Given the description of an element on the screen output the (x, y) to click on. 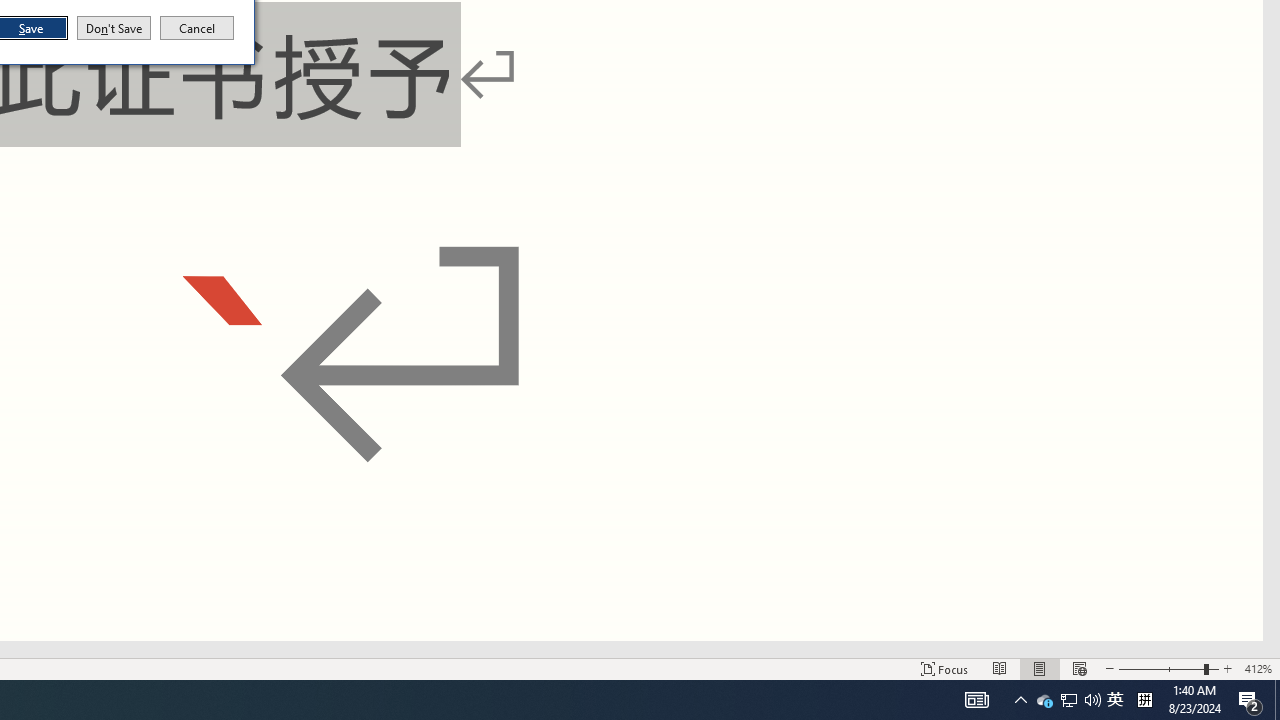
Cancel (197, 27)
Don't Save (1115, 699)
Show desktop (113, 27)
Tray Input Indicator - Chinese (Simplified, China) (1277, 699)
